Given the description of an element on the screen output the (x, y) to click on. 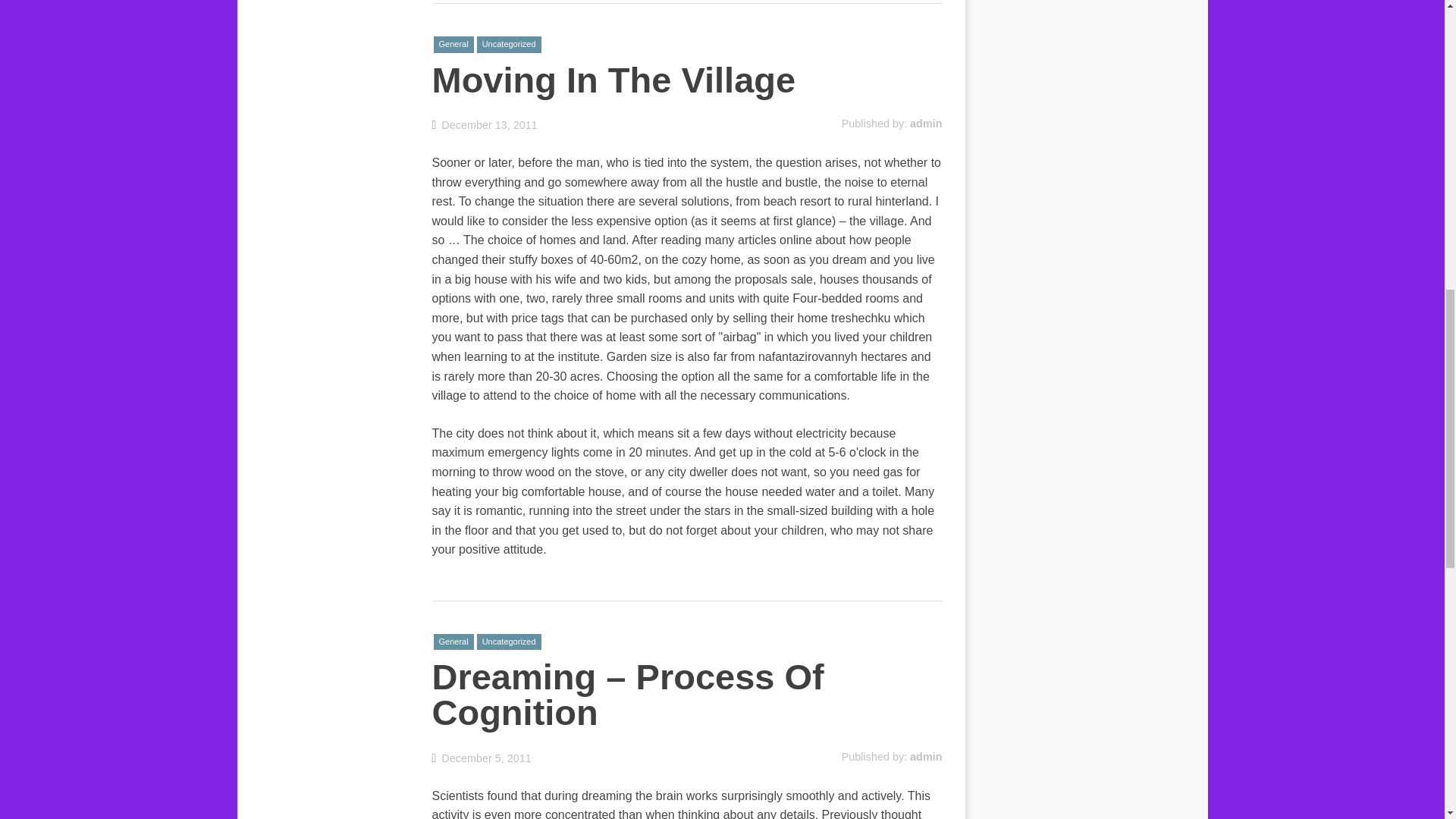
Uncategorized (509, 641)
Posts by admin (926, 756)
December 5, 2011 (481, 757)
Posts by admin (926, 123)
General (453, 44)
General (453, 641)
4:48 am (484, 124)
Uncategorized (509, 44)
December 13, 2011 (484, 124)
admin (926, 123)
